Given the description of an element on the screen output the (x, y) to click on. 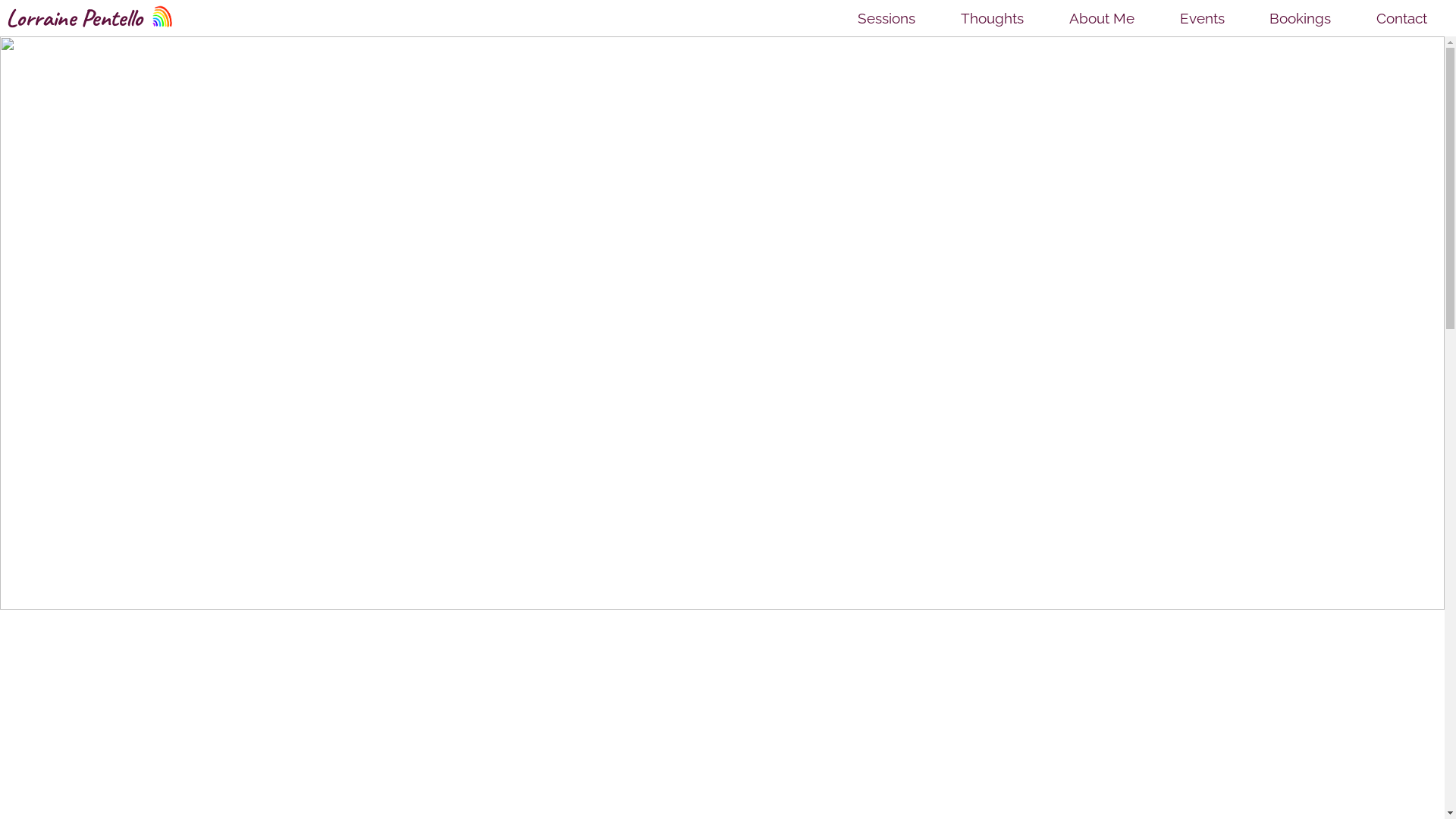
Lorraine Pentello Element type: text (91, 18)
Thoughts Element type: text (992, 18)
Events Element type: text (1202, 18)
Sessions Element type: text (886, 18)
Contact Element type: text (1401, 18)
Bookings Element type: text (1299, 18)
About Me Element type: text (1101, 18)
